Given the description of an element on the screen output the (x, y) to click on. 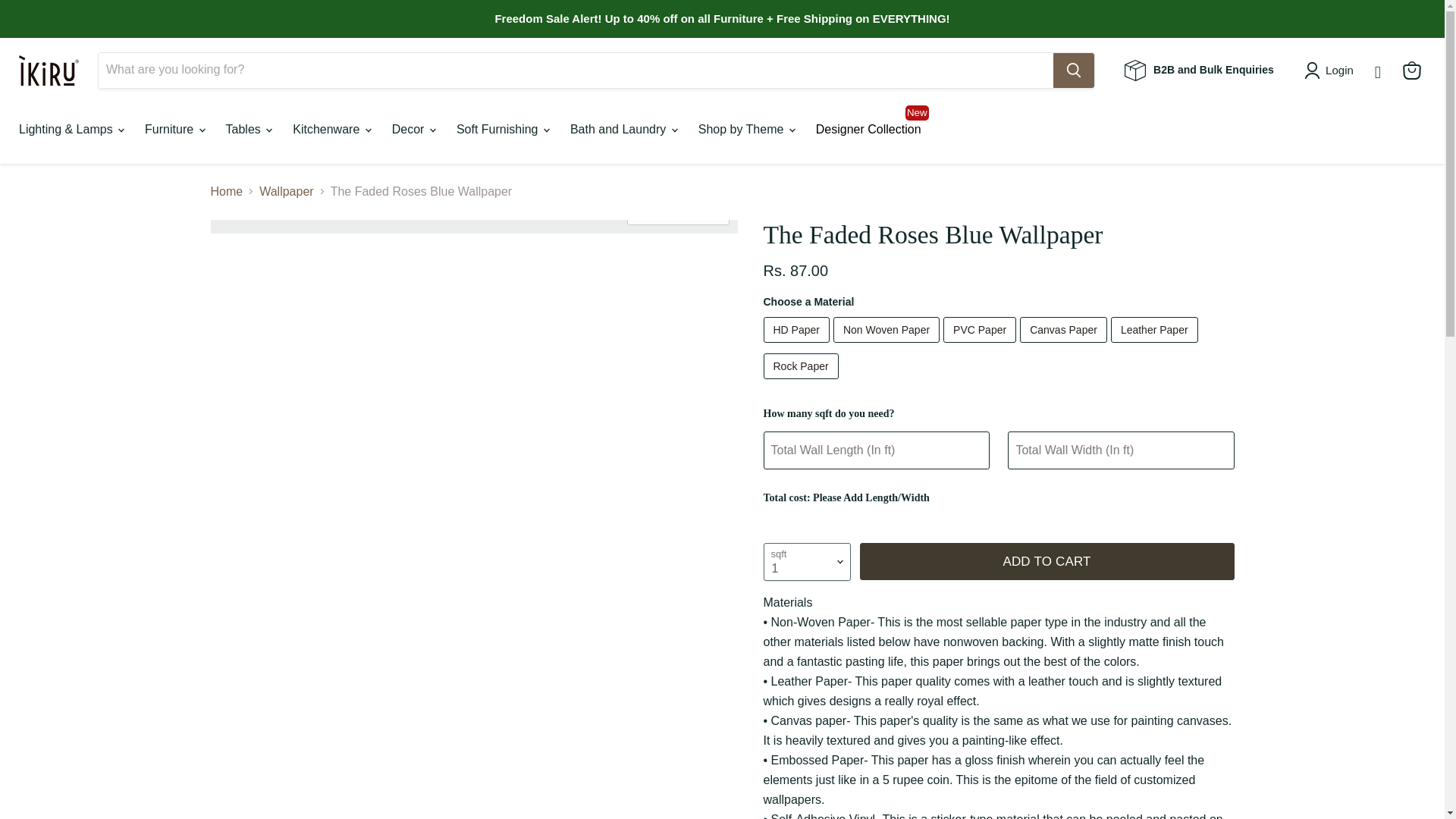
B2B and Bulk Enquiries (1199, 69)
Login (1339, 70)
View cart (1411, 69)
